Given the description of an element on the screen output the (x, y) to click on. 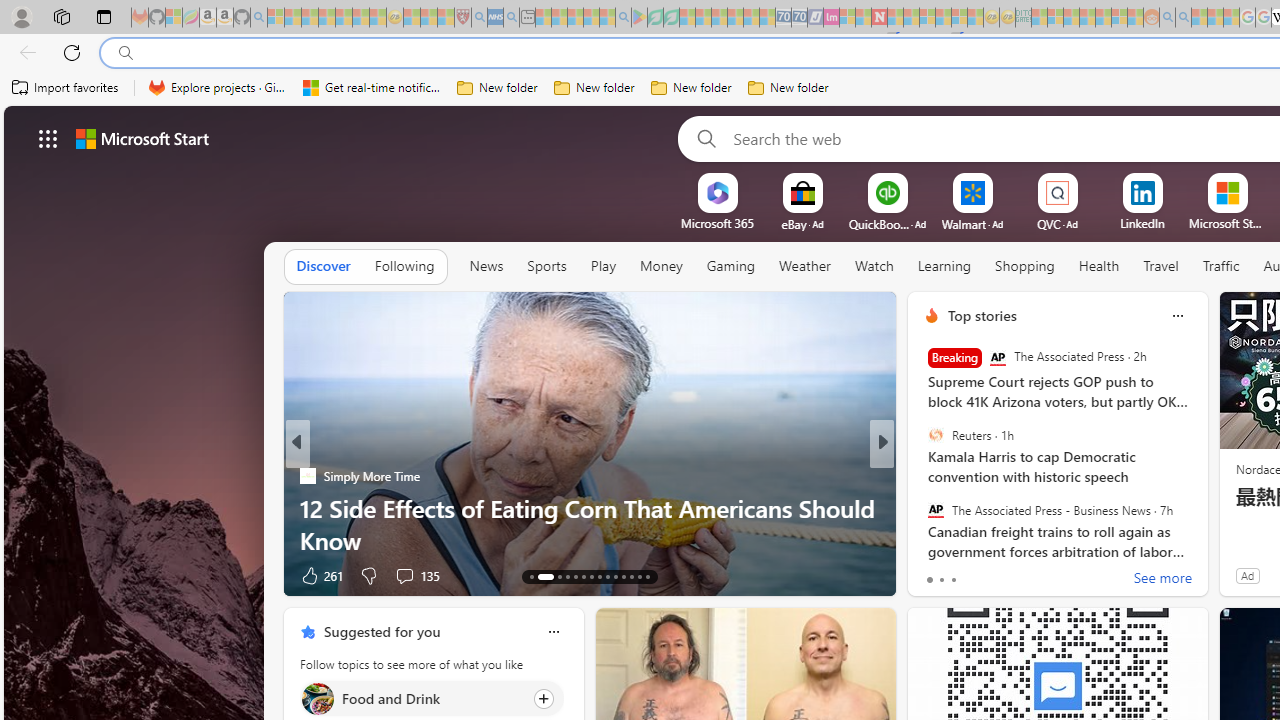
View comments 308 Comment (409, 574)
Health Digest (307, 507)
View comments 13 Comment (1029, 574)
